Given the description of an element on the screen output the (x, y) to click on. 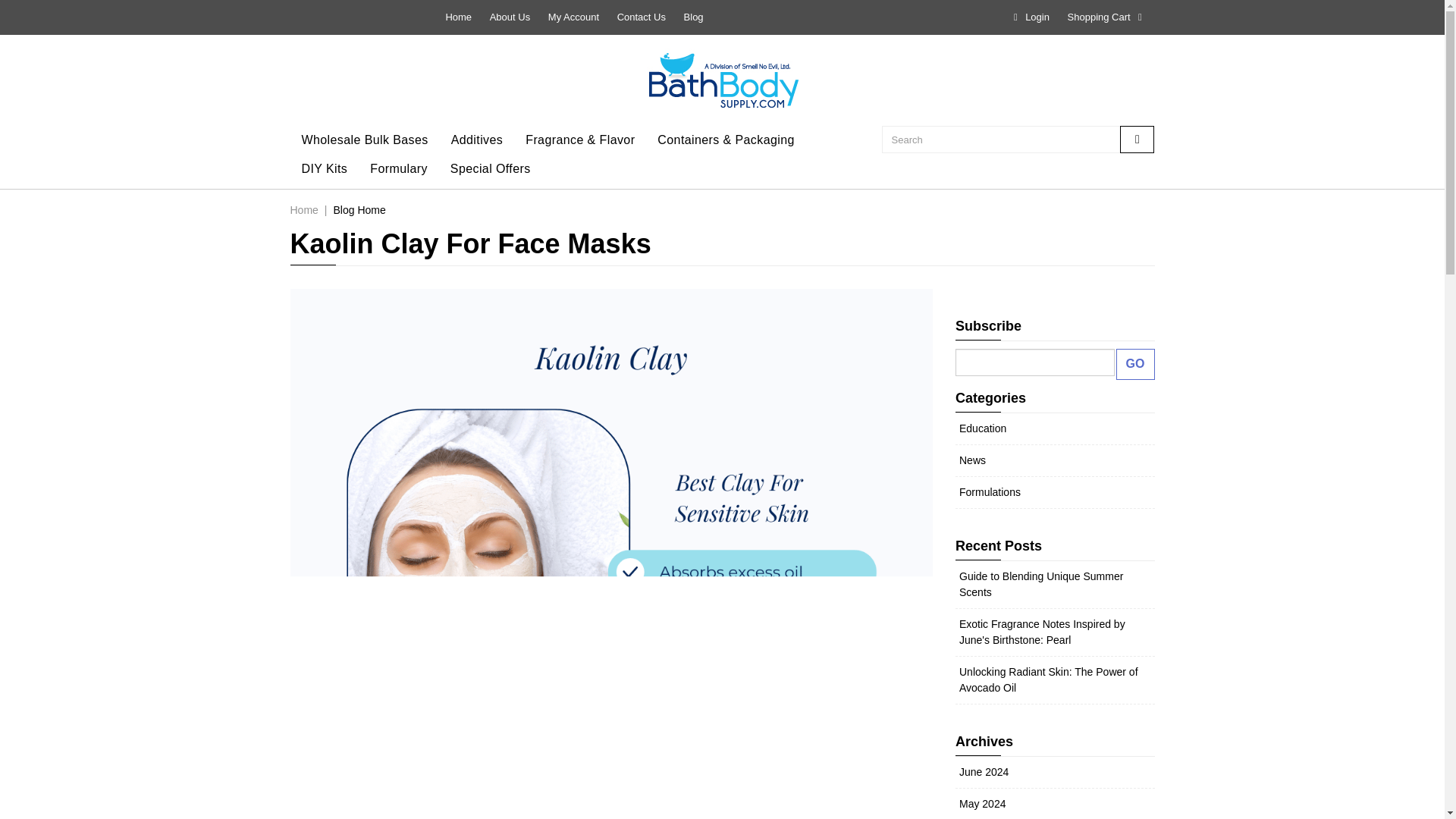
Additives (477, 140)
My Account (573, 16)
About Us (509, 16)
DIY Kits (323, 168)
Home (303, 209)
GO (1135, 364)
Home (458, 16)
Shopping Cart (1107, 16)
Contact Us (641, 16)
Blog (693, 16)
